Given the description of an element on the screen output the (x, y) to click on. 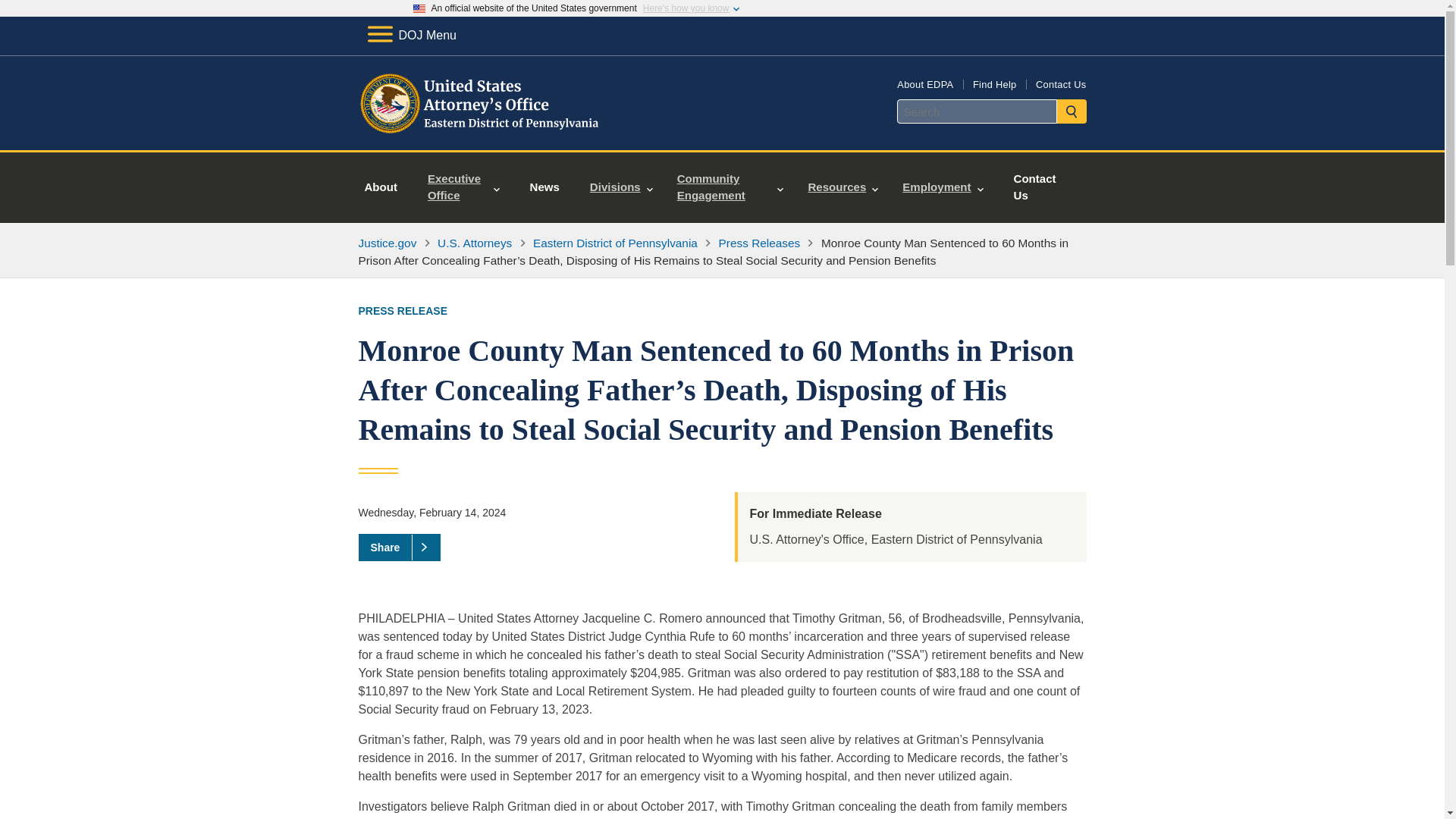
Contact Us (1034, 187)
Here's how you know (686, 8)
DOJ Menu (411, 35)
Community Engagement (730, 187)
Find Help (994, 84)
News (545, 187)
Share (398, 547)
Divisions (621, 187)
Eastern District of Pennsylvania (614, 242)
Justice.gov (387, 242)
Home (481, 132)
Resources (841, 187)
About EDPA (924, 84)
Employment (941, 187)
Contact Us (1060, 84)
